Given the description of an element on the screen output the (x, y) to click on. 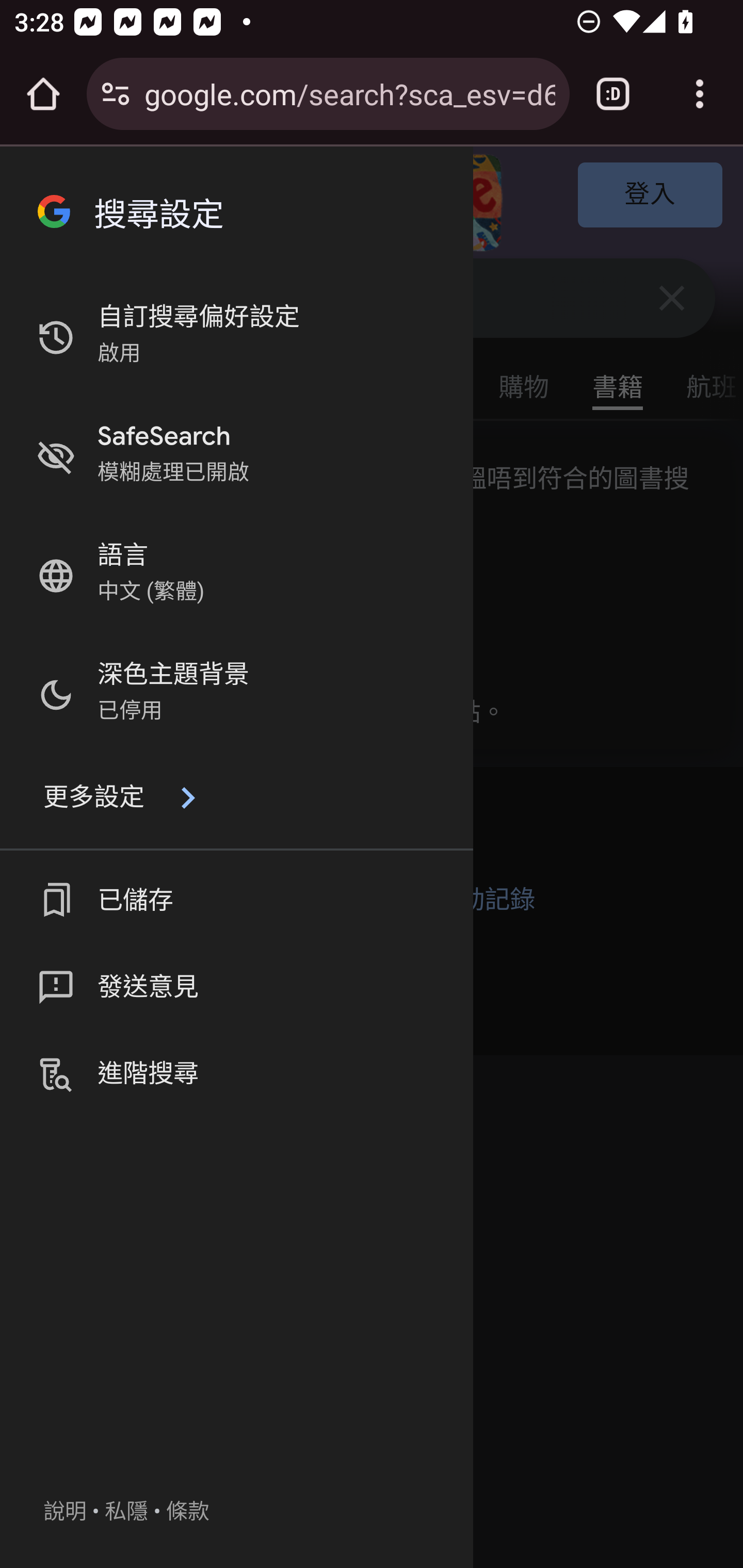
Open the home page (43, 93)
Connection is secure (115, 93)
Switch or close tabs (612, 93)
Customize and control Google Chrome (699, 93)
關閉導覽列 (236, 210)
自訂搜尋偏好設定 啟用 (236, 336)
SafeSearch 模糊處理已開啟 (236, 456)
語言 中文 (繁體) (236, 575)
深色主題背景 已停用 (236, 694)
更多設定 (236, 798)
已儲存 (236, 900)
發送意見 (236, 987)
進階搜尋 (236, 1073)
說明 (64, 1511)
私隱 (125, 1511)
條款 (187, 1511)
